Given the description of an element on the screen output the (x, y) to click on. 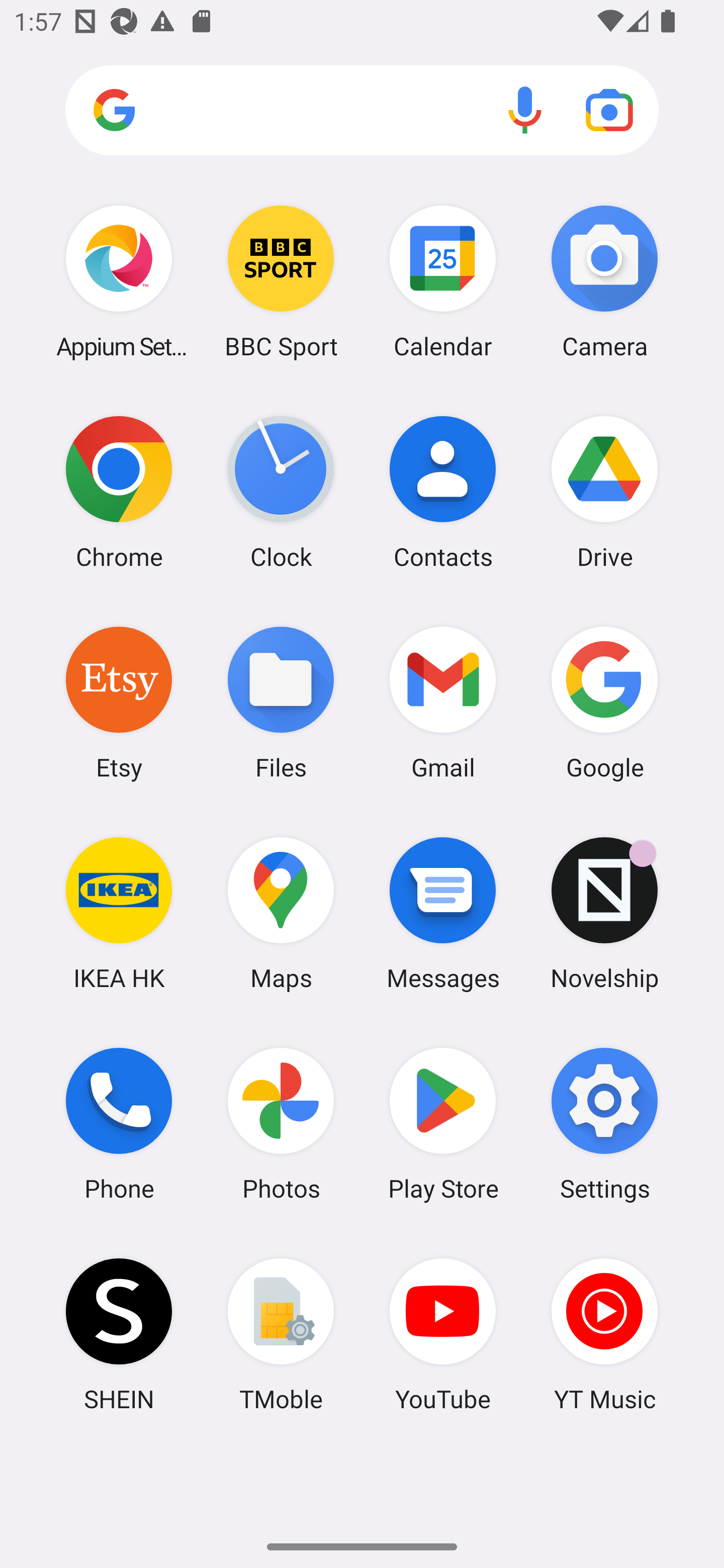
Search apps, web and more (361, 110)
Voice search (524, 109)
Google Lens (608, 109)
Appium Settings (118, 281)
BBC Sport (280, 281)
Calendar (443, 281)
Camera (604, 281)
Chrome (118, 492)
Clock (280, 492)
Contacts (443, 492)
Drive (604, 492)
Etsy (118, 702)
Files (280, 702)
Gmail (443, 702)
Google (604, 702)
IKEA HK (118, 913)
Maps (280, 913)
Messages (443, 913)
Novelship Novelship has 9 notifications (604, 913)
Phone (118, 1124)
Photos (280, 1124)
Play Store (443, 1124)
Settings (604, 1124)
SHEIN (118, 1334)
TMoble (280, 1334)
YouTube (443, 1334)
YT Music (604, 1334)
